Given the description of an element on the screen output the (x, y) to click on. 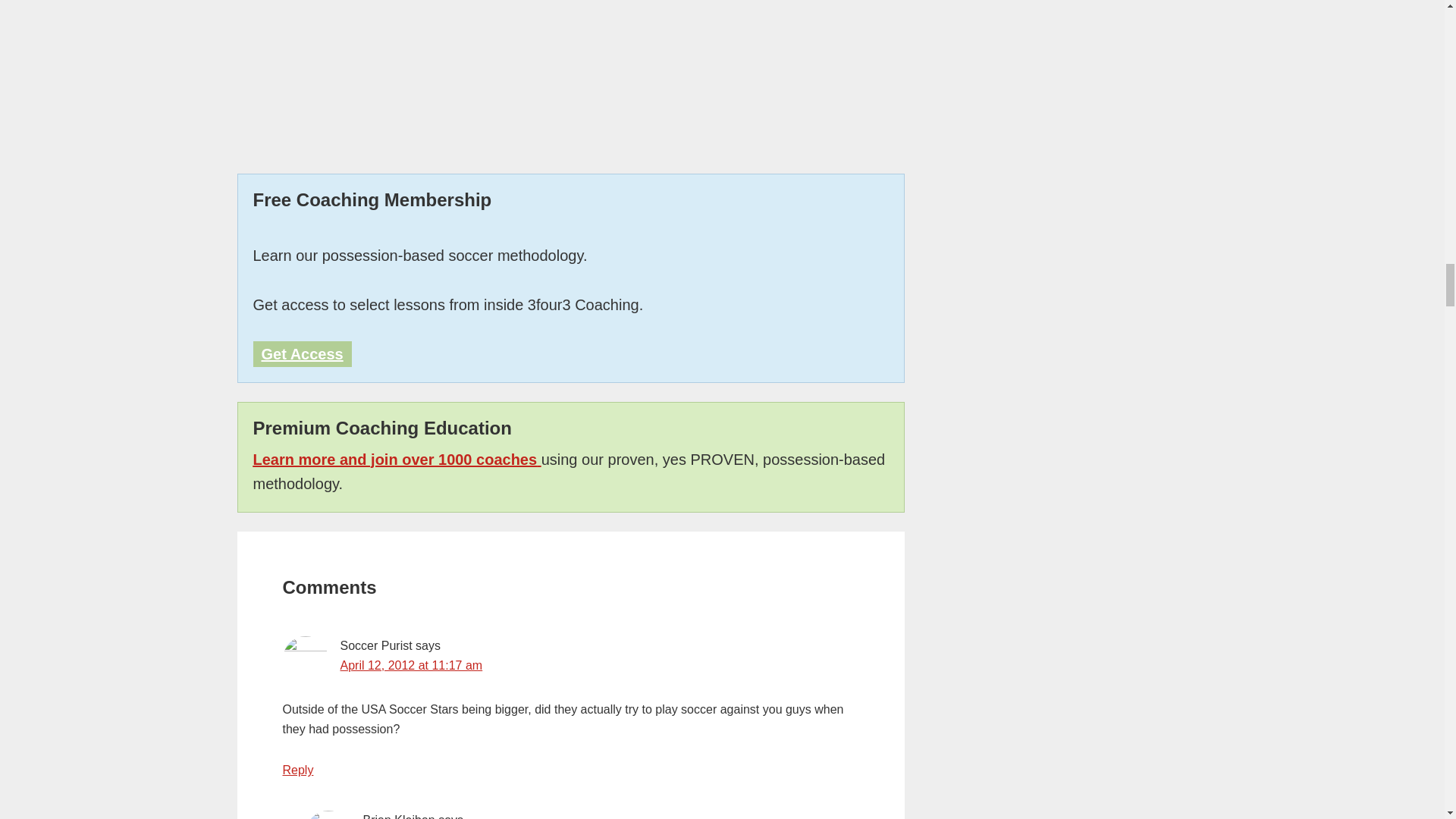
Learn more and join over 1000 coaches (397, 459)
April 12, 2012 at 11:17 am (410, 665)
Get Access (302, 353)
Reply (297, 769)
